Given the description of an element on the screen output the (x, y) to click on. 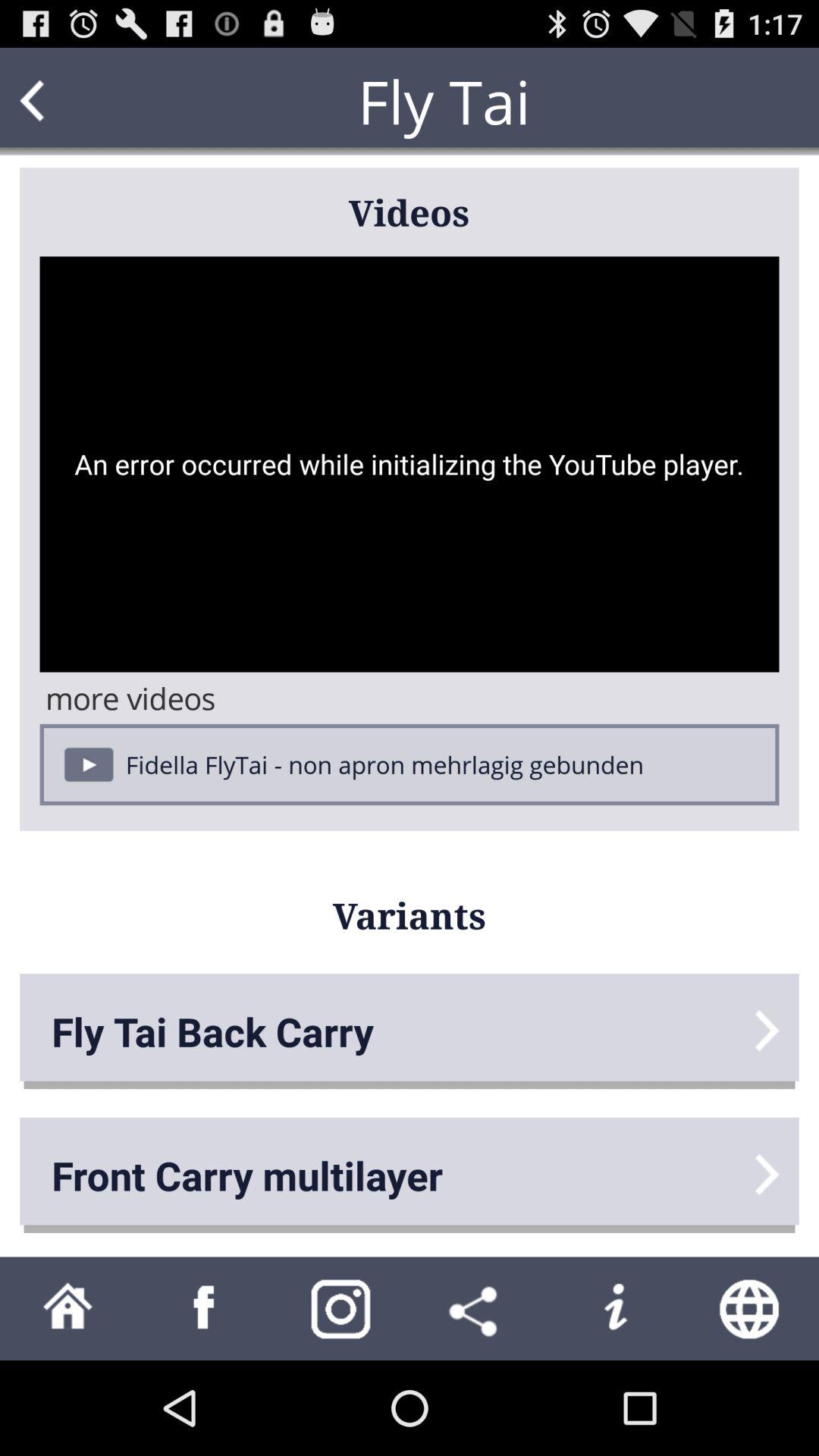
home button (68, 1308)
